Given the description of an element on the screen output the (x, y) to click on. 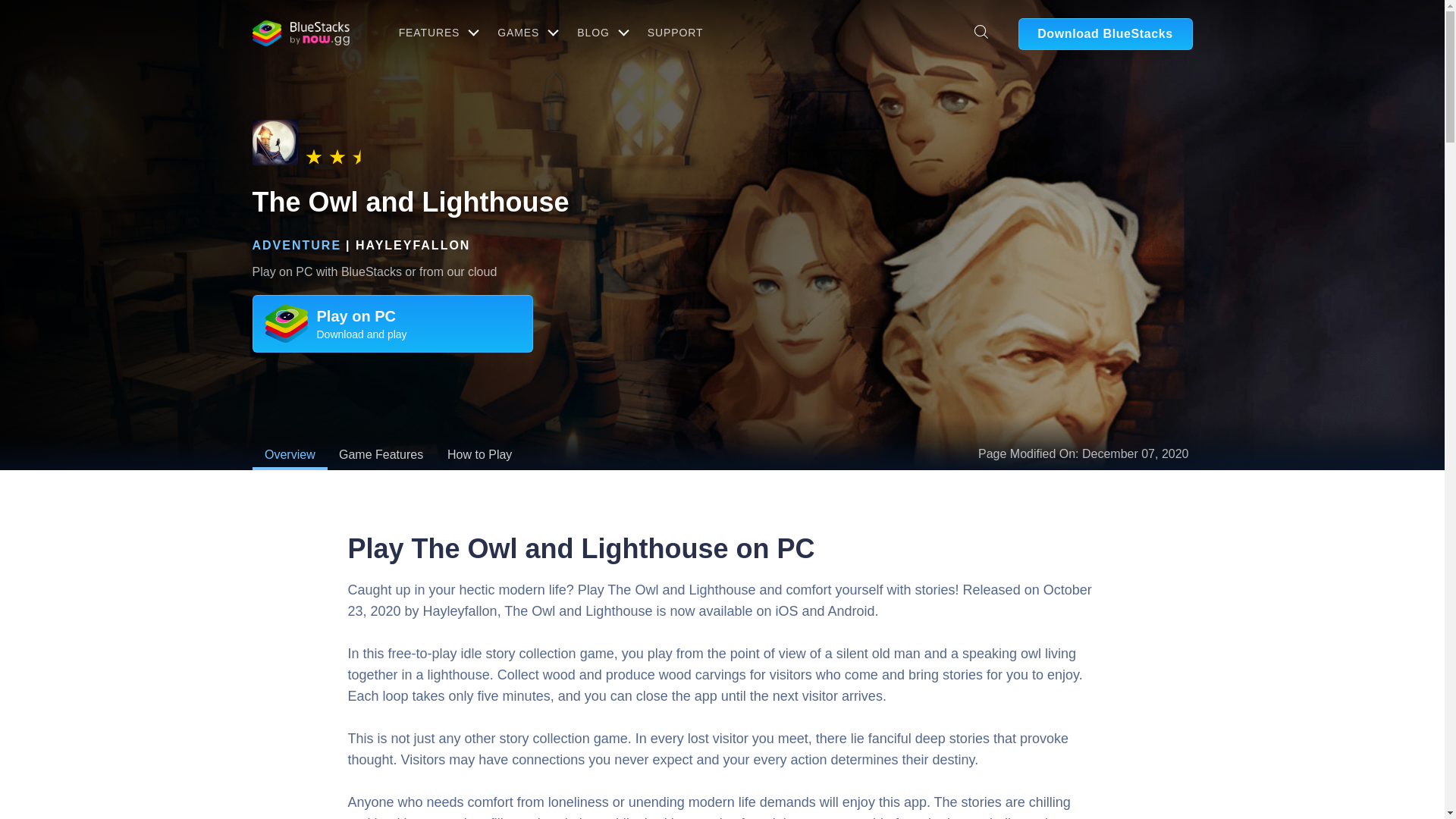
FEATURES (437, 32)
